Given the description of an element on the screen output the (x, y) to click on. 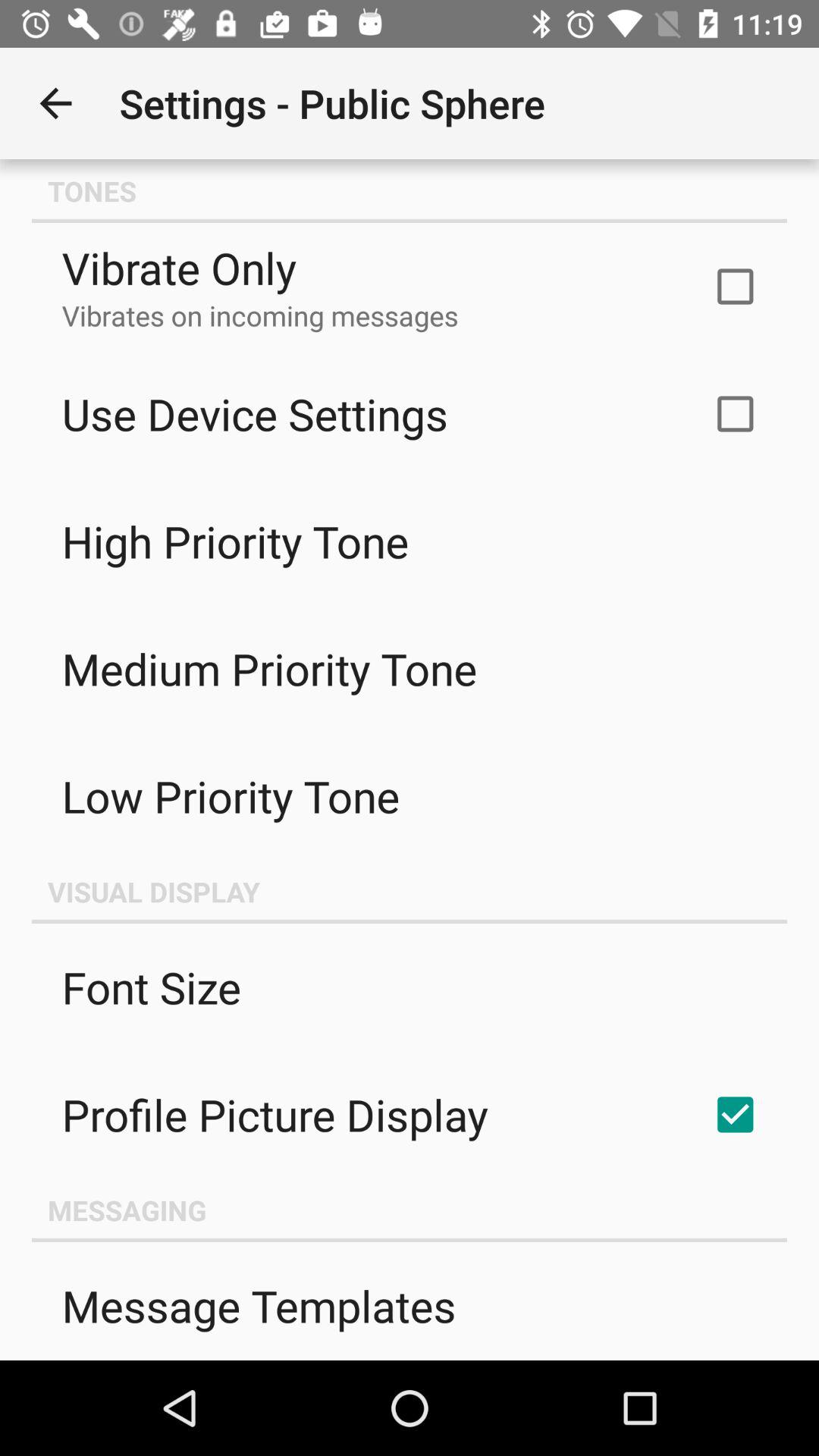
swipe to the visual display icon (409, 891)
